Given the description of an element on the screen output the (x, y) to click on. 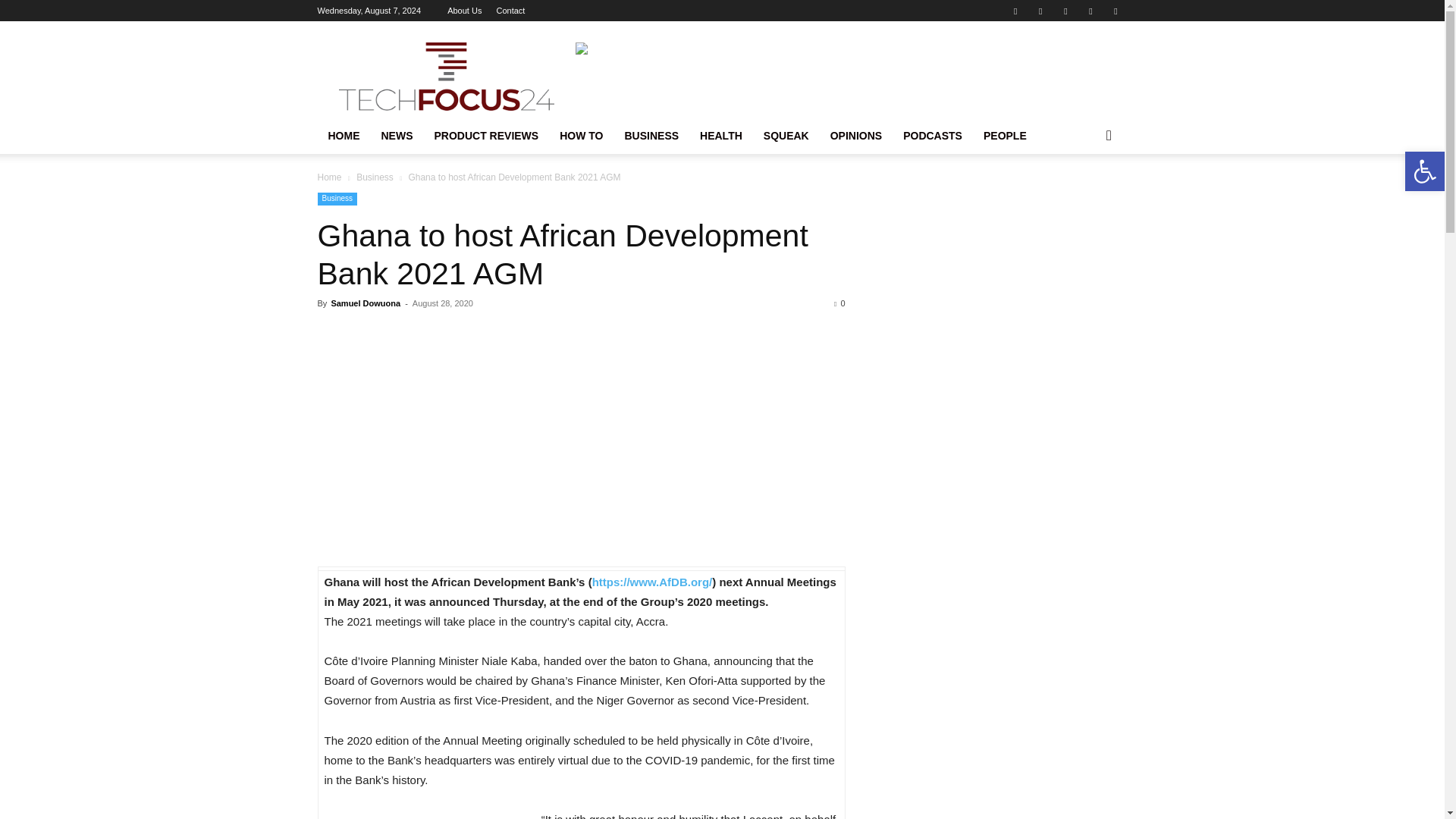
Facebook (1015, 10)
HOW TO (580, 135)
BUSINESS (650, 135)
HEALTH (720, 135)
View all posts in Business (374, 176)
Youtube (1114, 10)
Vimeo (1065, 10)
Contact (510, 10)
HOME (343, 135)
VKontakte (1090, 10)
About Us (463, 10)
Accessibility Tools (1424, 170)
Twitter (1040, 10)
PRODUCT REVIEWS (485, 135)
NEWS (396, 135)
